Given the description of an element on the screen output the (x, y) to click on. 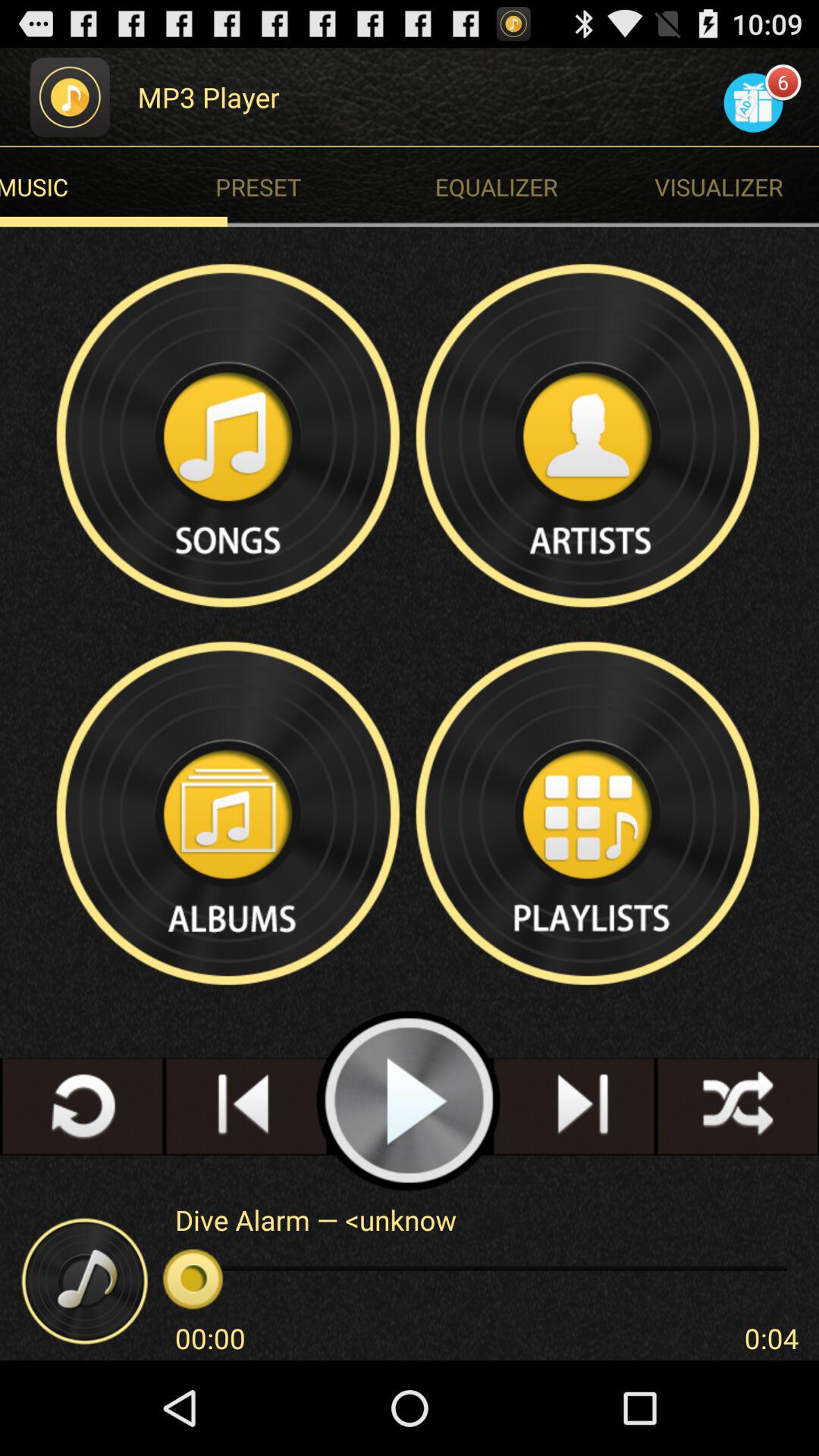
shows play icon (408, 1101)
